Given the description of an element on the screen output the (x, y) to click on. 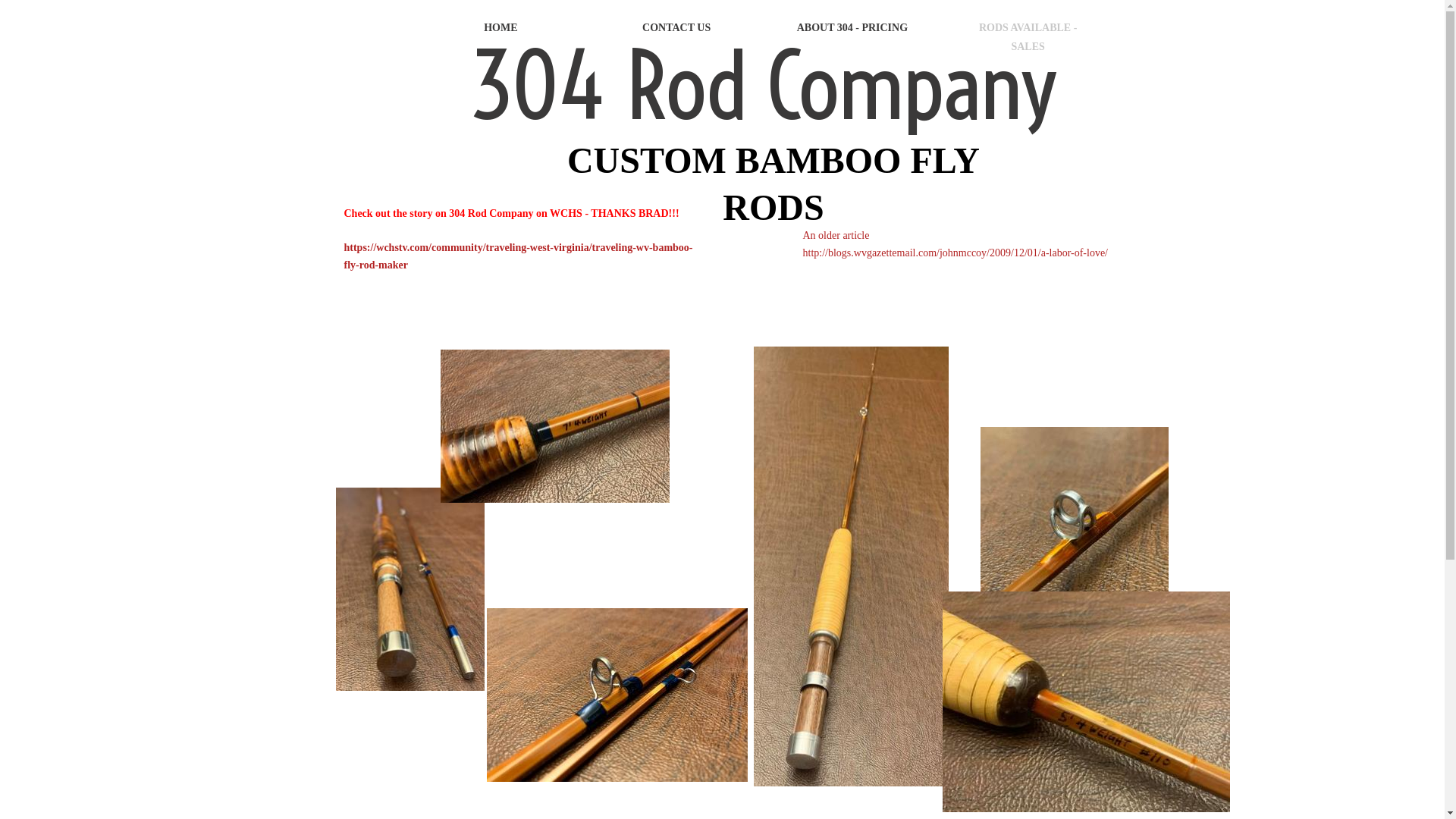
ABOUT 304 - PRICING Element type: text (852, 27)
HOME Element type: text (500, 27)
CONTACT US Element type: text (676, 27)
RODS AVAILABLE - SALES Element type: text (1028, 37)
